Given the description of an element on the screen output the (x, y) to click on. 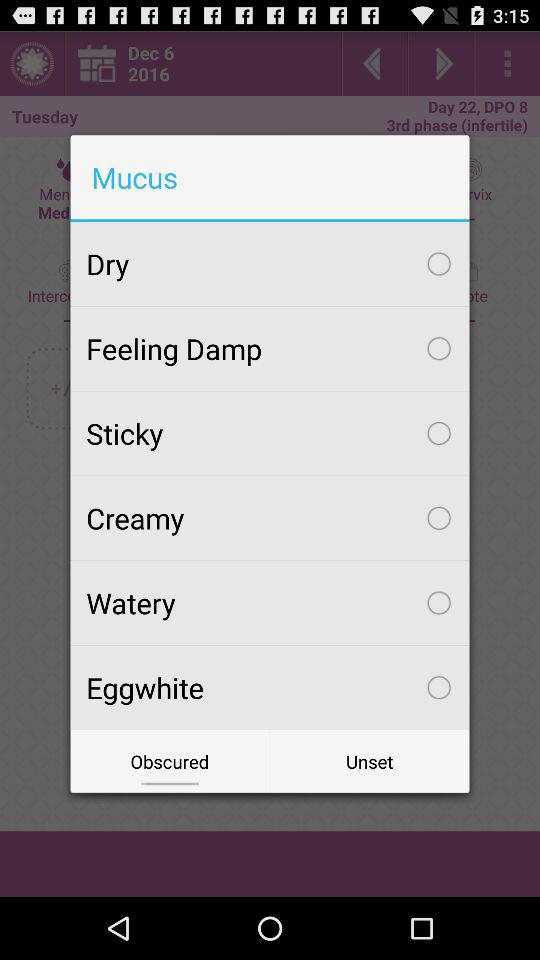
turn on sticky (269, 433)
